Given the description of an element on the screen output the (x, y) to click on. 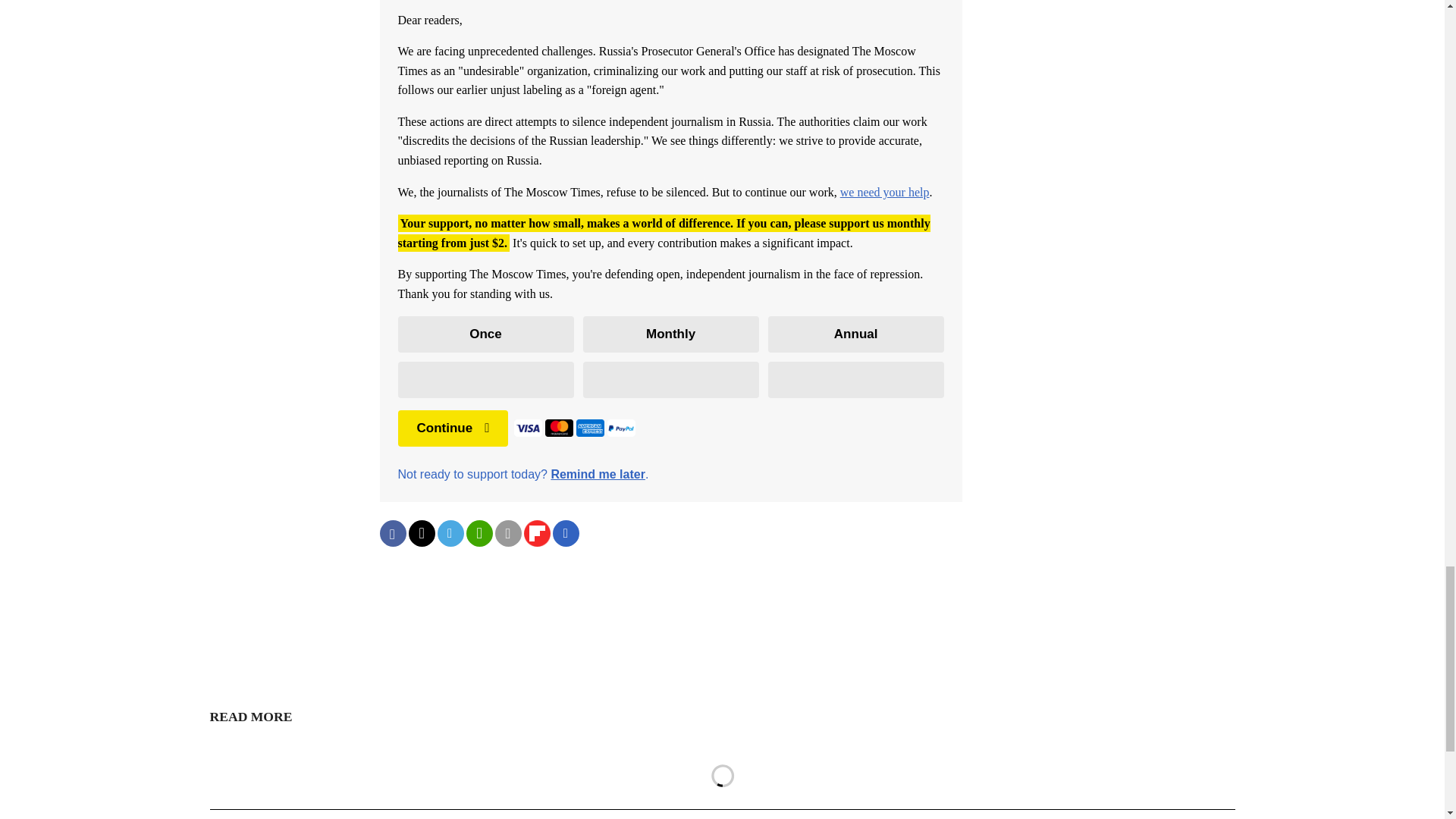
Share on Facebook (392, 533)
Share on Twitter (420, 533)
we need your help (885, 192)
Share on Flipboard (536, 533)
Share on Telegram (449, 533)
